Given the description of an element on the screen output the (x, y) to click on. 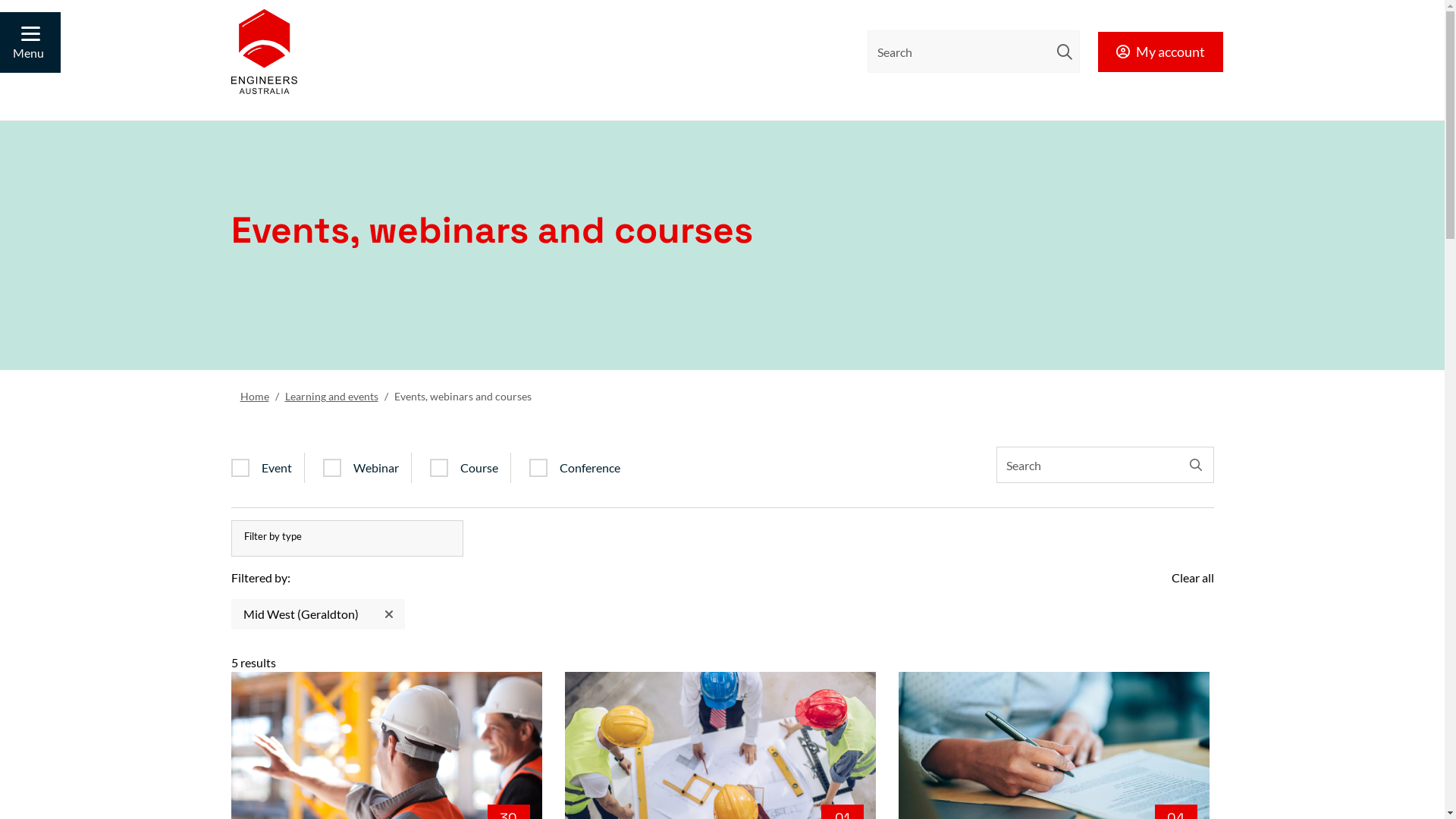
search submit Element type: hover (1064, 51)
My account Element type: text (1160, 51)
Mobile
Menu Element type: text (30, 42)
Mid West (Geraldton) Element type: text (317, 614)
search Element type: text (1064, 51)
Enter the terms you wish to search for. Element type: hover (973, 51)
Home Element type: text (253, 395)
Clear all Element type: text (1191, 577)
Learning and events Element type: text (331, 395)
Filter by type Element type: text (346, 538)
Save Element type: text (722, 15)
Back to homepage Element type: text (263, 51)
